Given the description of an element on the screen output the (x, y) to click on. 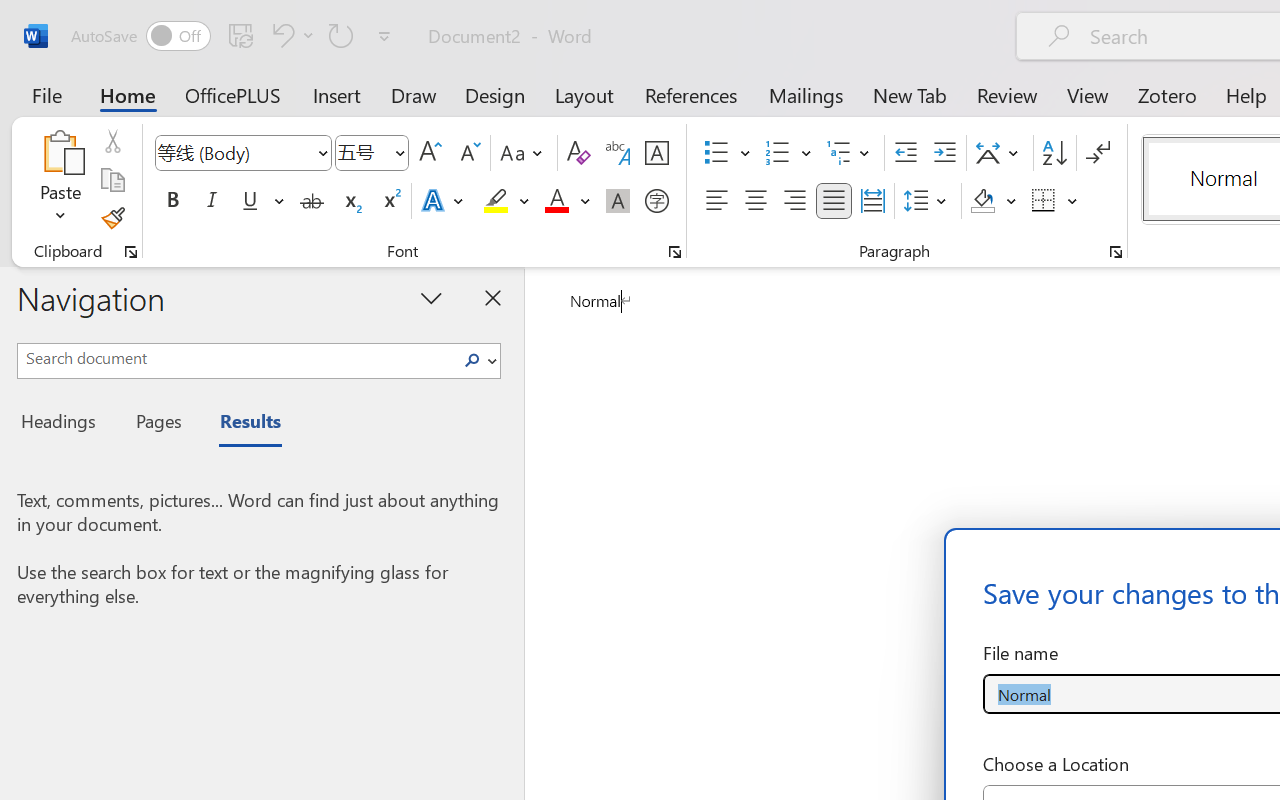
Font Color Red (556, 201)
AutoSave (140, 35)
Multilevel List (850, 153)
Font Color (567, 201)
Search (471, 360)
Text Effects and Typography (444, 201)
Headings (64, 424)
Save (241, 35)
Shading RGB(0, 0, 0) (982, 201)
Superscript (390, 201)
Text Highlight Color (506, 201)
Class: NetUIImage (471, 360)
Zotero (1166, 94)
